Given the description of an element on the screen output the (x, y) to click on. 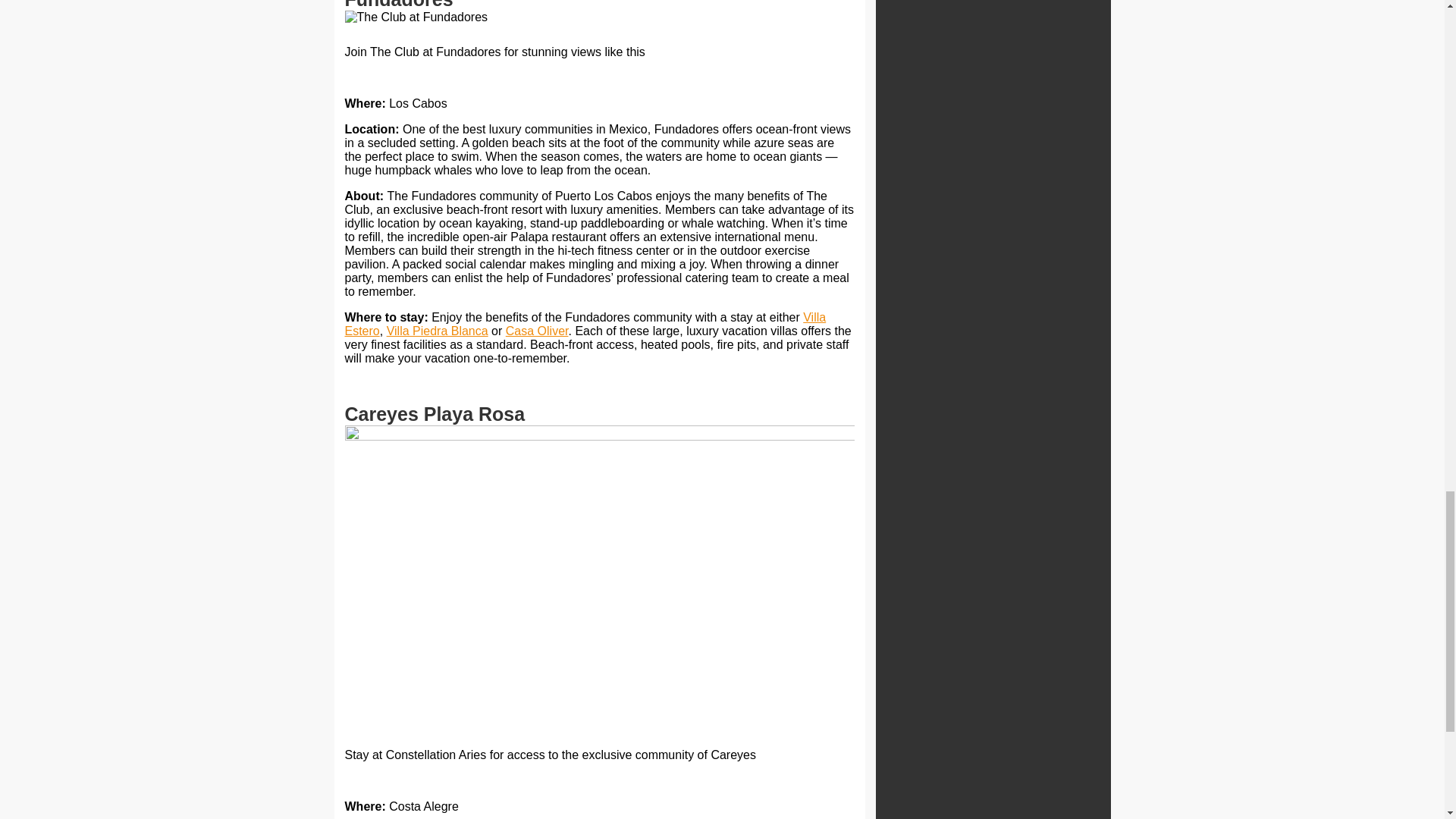
Villa Piedra Blanca (437, 330)
Casa Oliver (537, 330)
Villa Estero (584, 324)
